Given the description of an element on the screen output the (x, y) to click on. 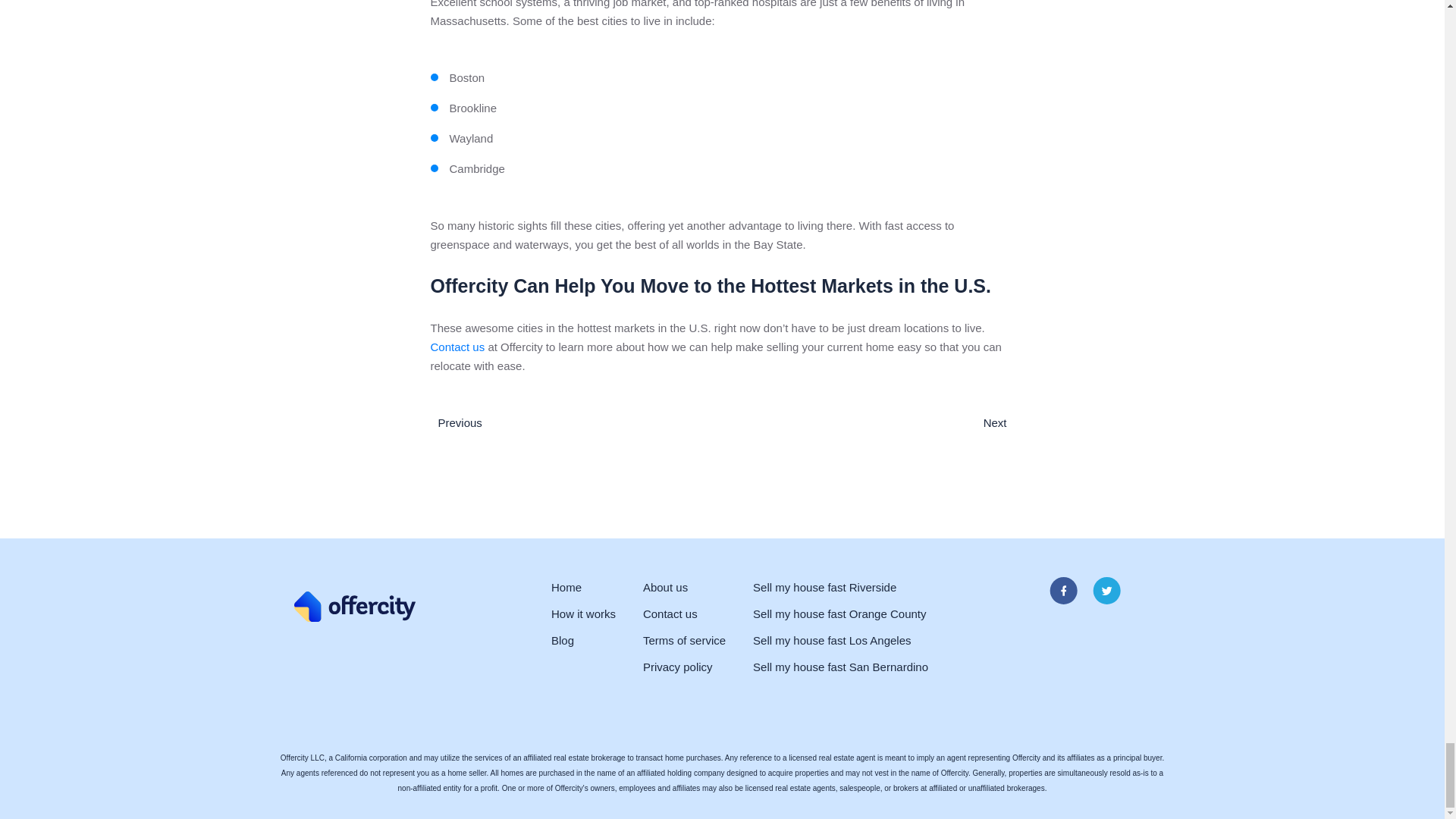
Sell my house fast Los Angeles (831, 640)
Blog (562, 640)
Home (565, 587)
Sell my house fast Orange County (839, 613)
Privacy policy (678, 667)
How it works (583, 613)
Terms of service (684, 640)
Contact us (670, 613)
Previous (455, 422)
Sell my house fast San Bernardino (840, 667)
Next (999, 422)
Contact us (457, 346)
Sell my house fast Riverside (824, 587)
About us (665, 587)
